Given the description of an element on the screen output the (x, y) to click on. 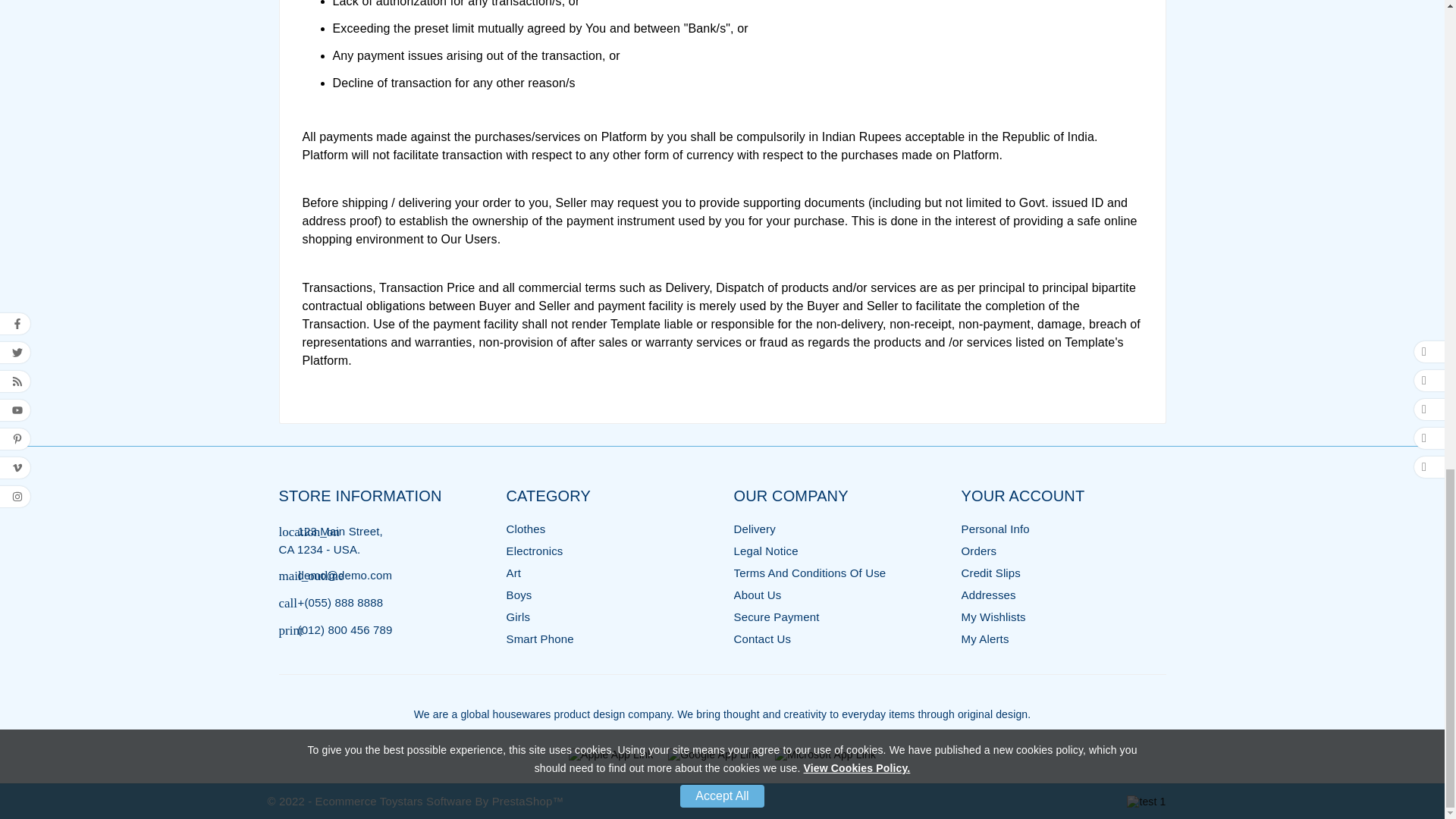
Smart Phone (539, 638)
Our terms and conditions of delivery (754, 528)
Girls (518, 616)
Art (513, 572)
Electronics (534, 550)
Boys (519, 594)
Clothes (526, 528)
